Given the description of an element on the screen output the (x, y) to click on. 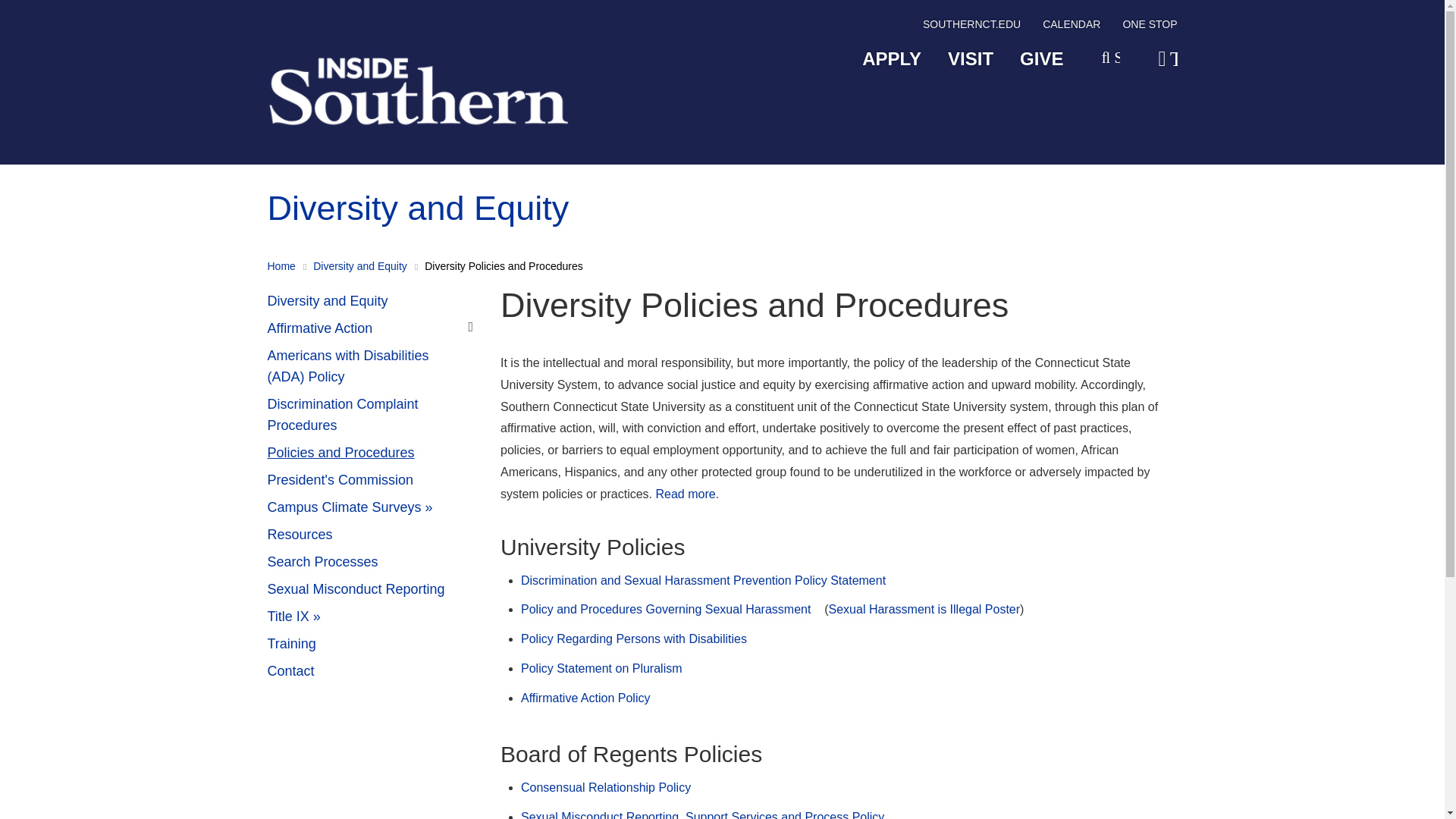
Sexual Harassment is Illegal Poster (924, 608)
VISIT (969, 59)
ONE STOP (1149, 27)
Affirmative Action (371, 329)
Consensual Relationship Policy (605, 787)
Policy Statement (686, 493)
Policies and Procedures (371, 452)
Policy Statement on Pluralism (601, 667)
Diversity and Equity (360, 265)
Discrimination Complaint Procedures (371, 415)
